Given the description of an element on the screen output the (x, y) to click on. 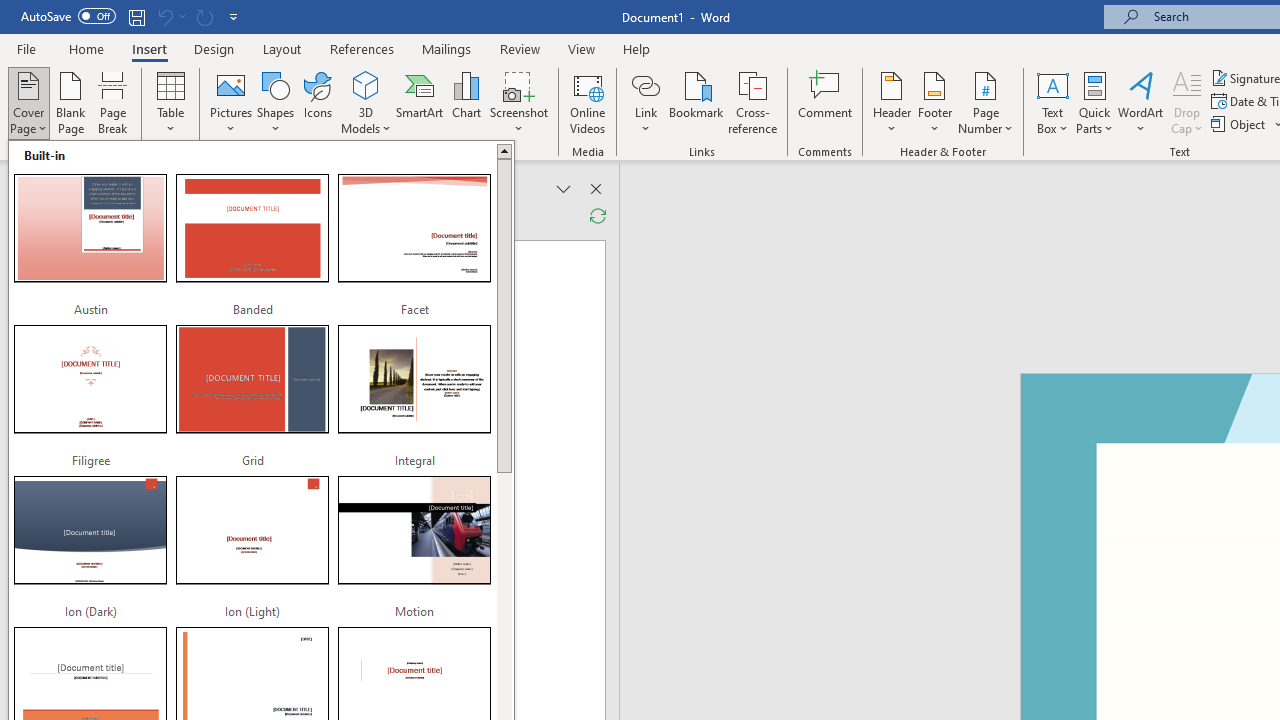
Comment (825, 102)
Shapes (275, 102)
Table (170, 102)
Can't Undo (170, 15)
Object... (1240, 124)
Drop Cap (1187, 102)
Footer (934, 102)
Blank Page (70, 102)
Page Number (986, 102)
Can't Repeat (204, 15)
Header (891, 102)
3D Models (366, 102)
Refresh Reviewing Pane (597, 215)
